Given the description of an element on the screen output the (x, y) to click on. 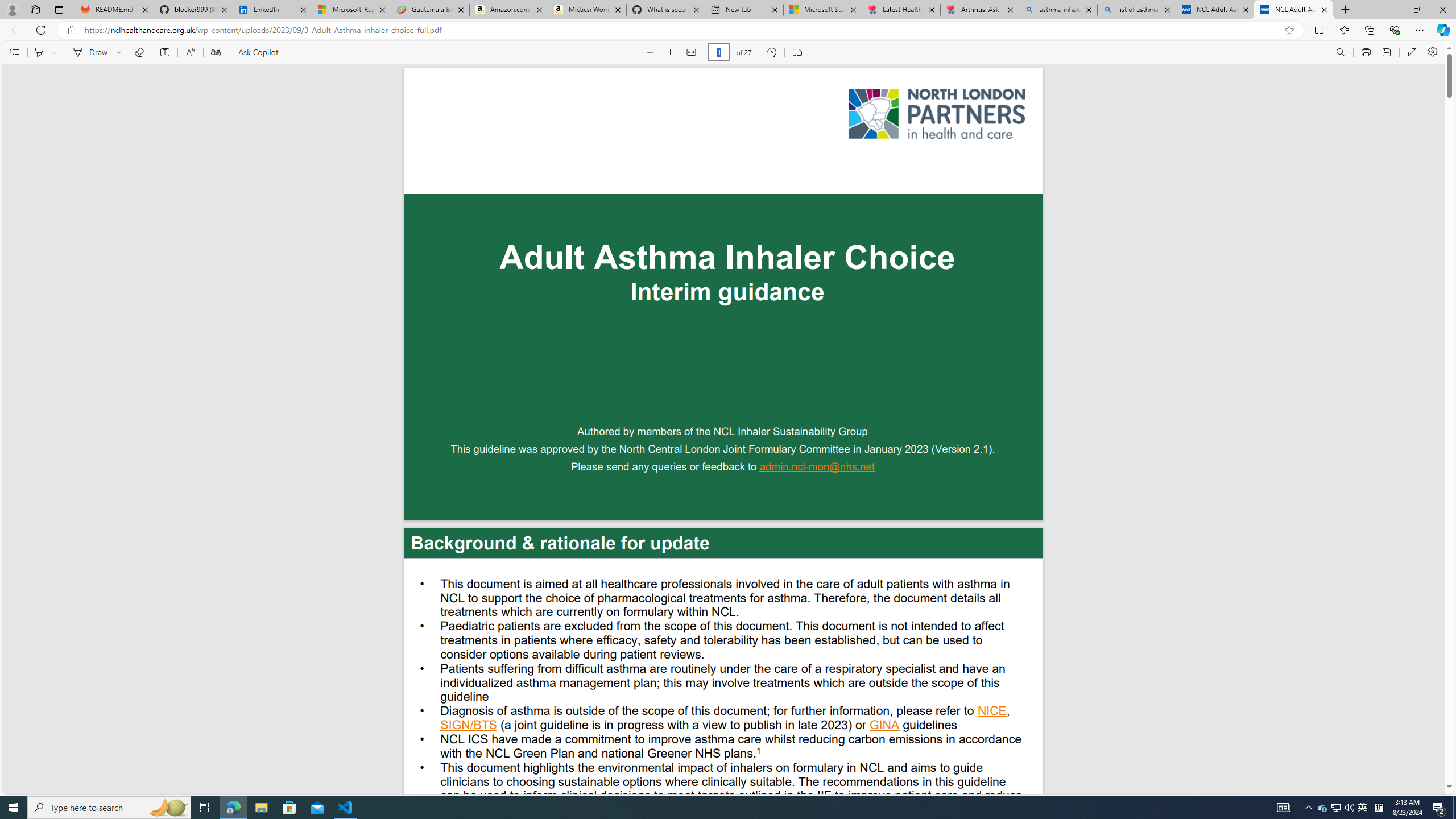
NICE (991, 711)
Unlabeled graphic (936, 114)
Read aloud (189, 52)
Ask Copilot (257, 52)
Add text (164, 52)
SIGN/BTS (468, 726)
asthma inhaler - Search (1057, 9)
Highlight (39, 52)
